Given the description of an element on the screen output the (x, y) to click on. 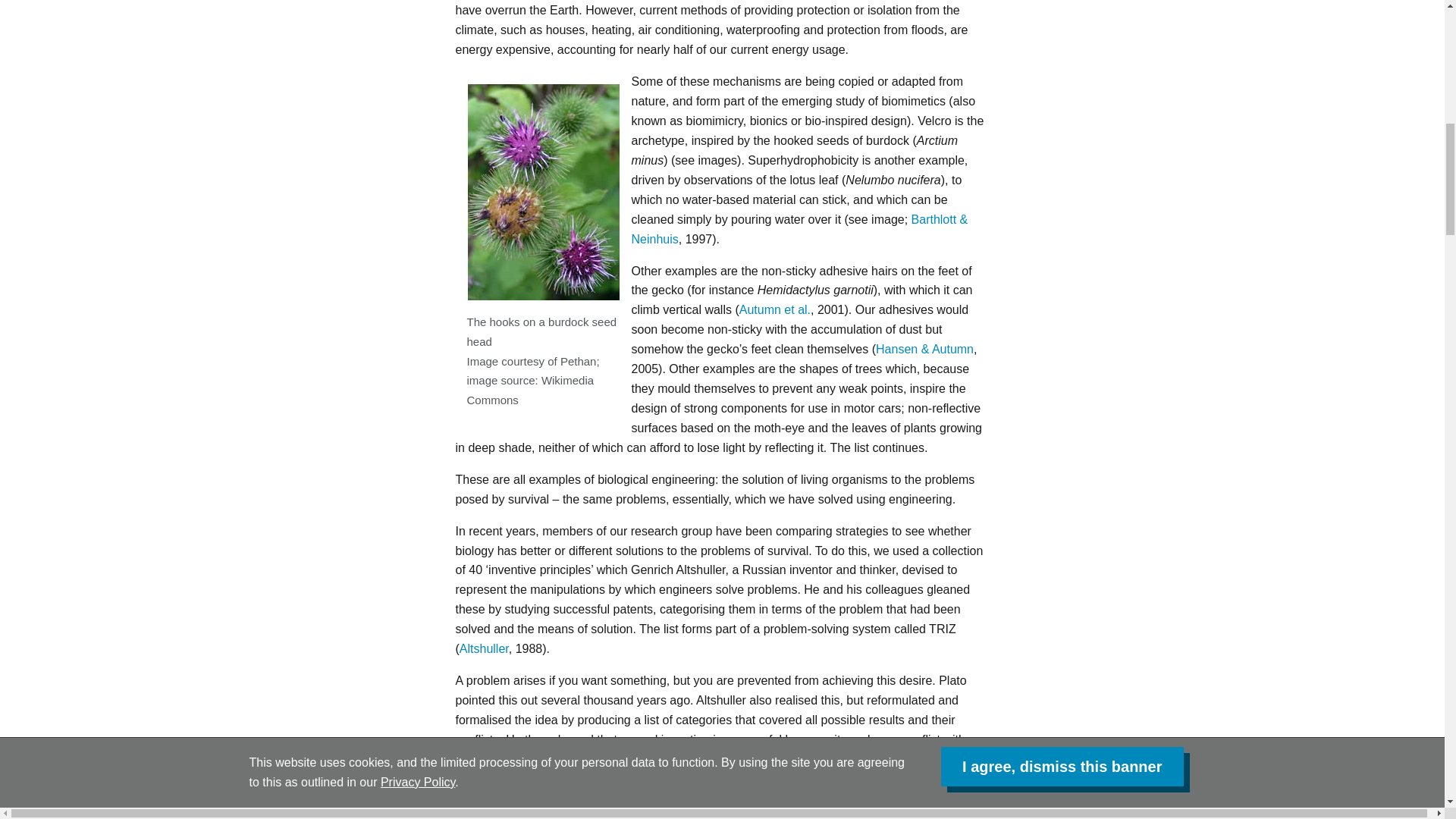
Altshuller (484, 648)
Autumn et al. (774, 309)
